Given the description of an element on the screen output the (x, y) to click on. 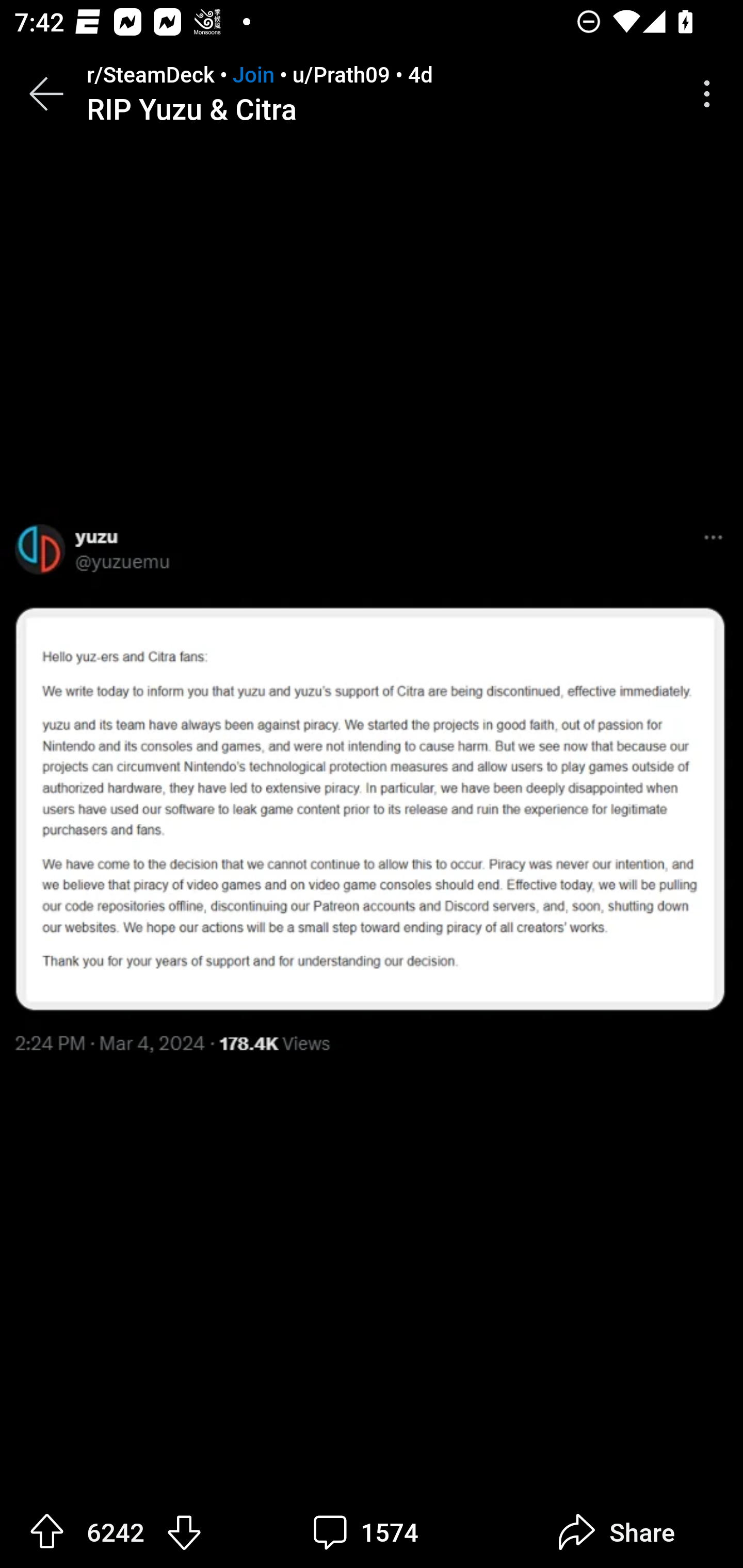
Back (46, 93)
More options (710, 93)
1574 comments 1574 (367, 1531)
Share (616, 1531)
Upvote (46, 1531)
Downvote (184, 1531)
